Given the description of an element on the screen output the (x, y) to click on. 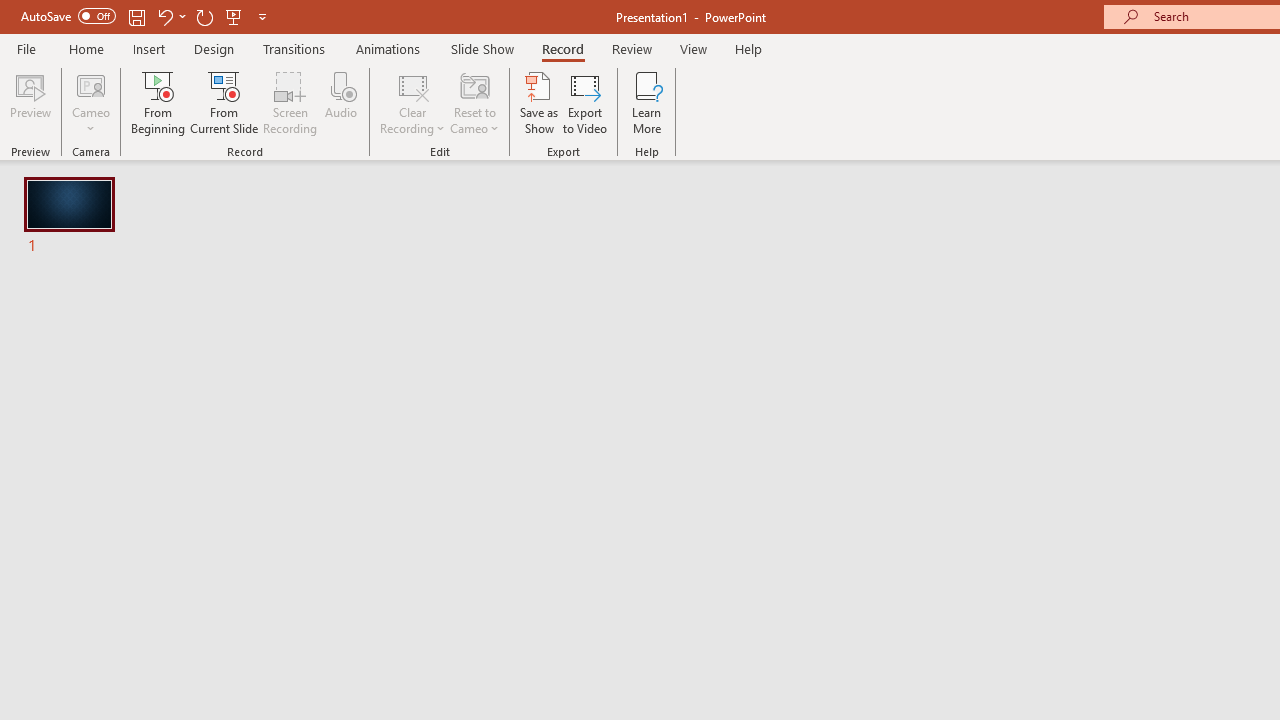
Export to Video (585, 102)
Save (136, 15)
Preview (30, 102)
Insert (149, 48)
Customize Quick Access Toolbar (262, 15)
Cameo (91, 84)
Audio (341, 102)
Learn More (646, 102)
From Beginning (234, 15)
